Given the description of an element on the screen output the (x, y) to click on. 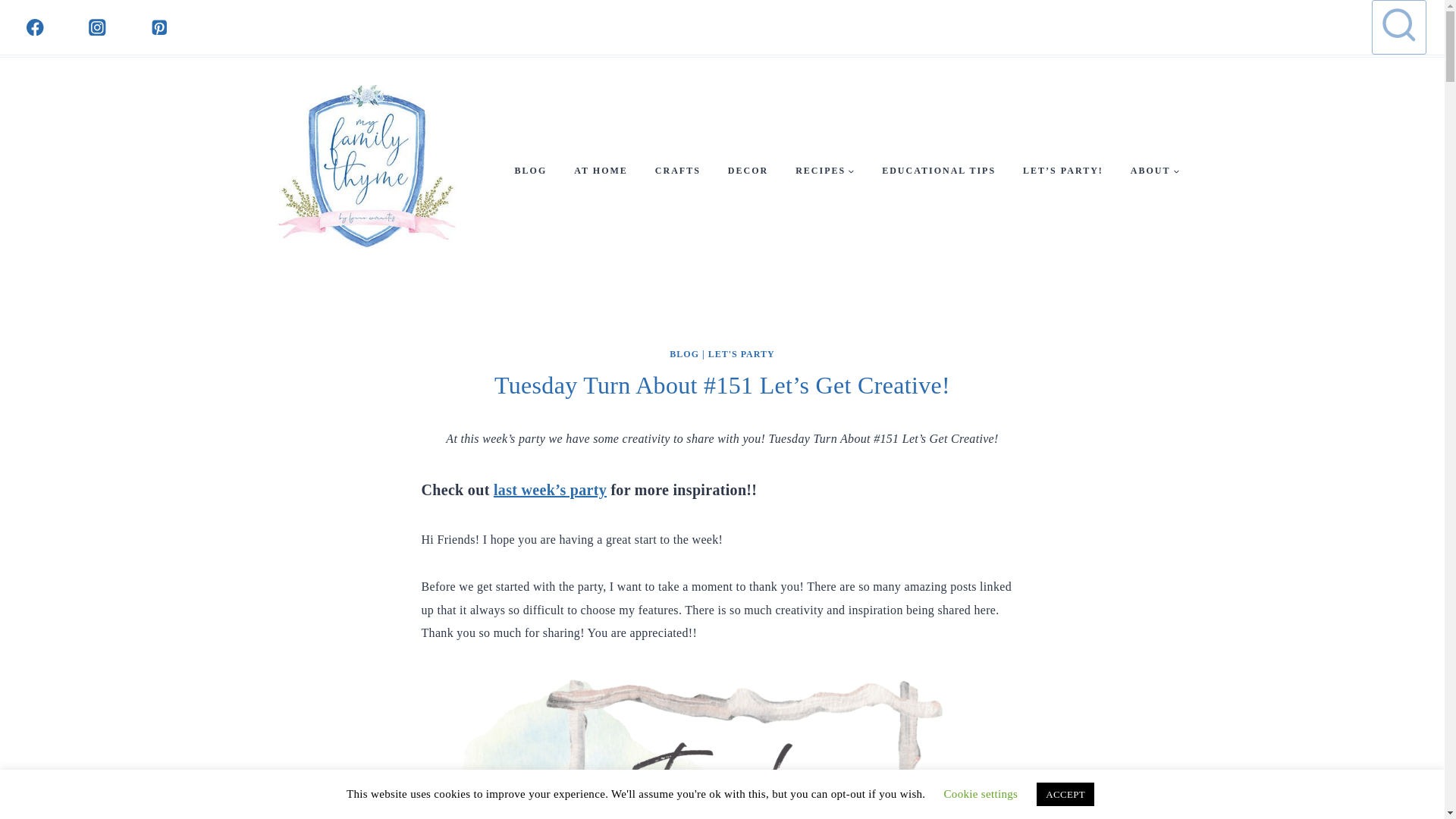
RECIPES (824, 171)
ABOUT (1154, 171)
BLOG (683, 353)
AT HOME (601, 171)
LET'S PARTY (740, 353)
EDUCATIONAL TIPS (938, 171)
CRAFTS (678, 171)
DECOR (747, 171)
BLOG (530, 171)
